Given the description of an element on the screen output the (x, y) to click on. 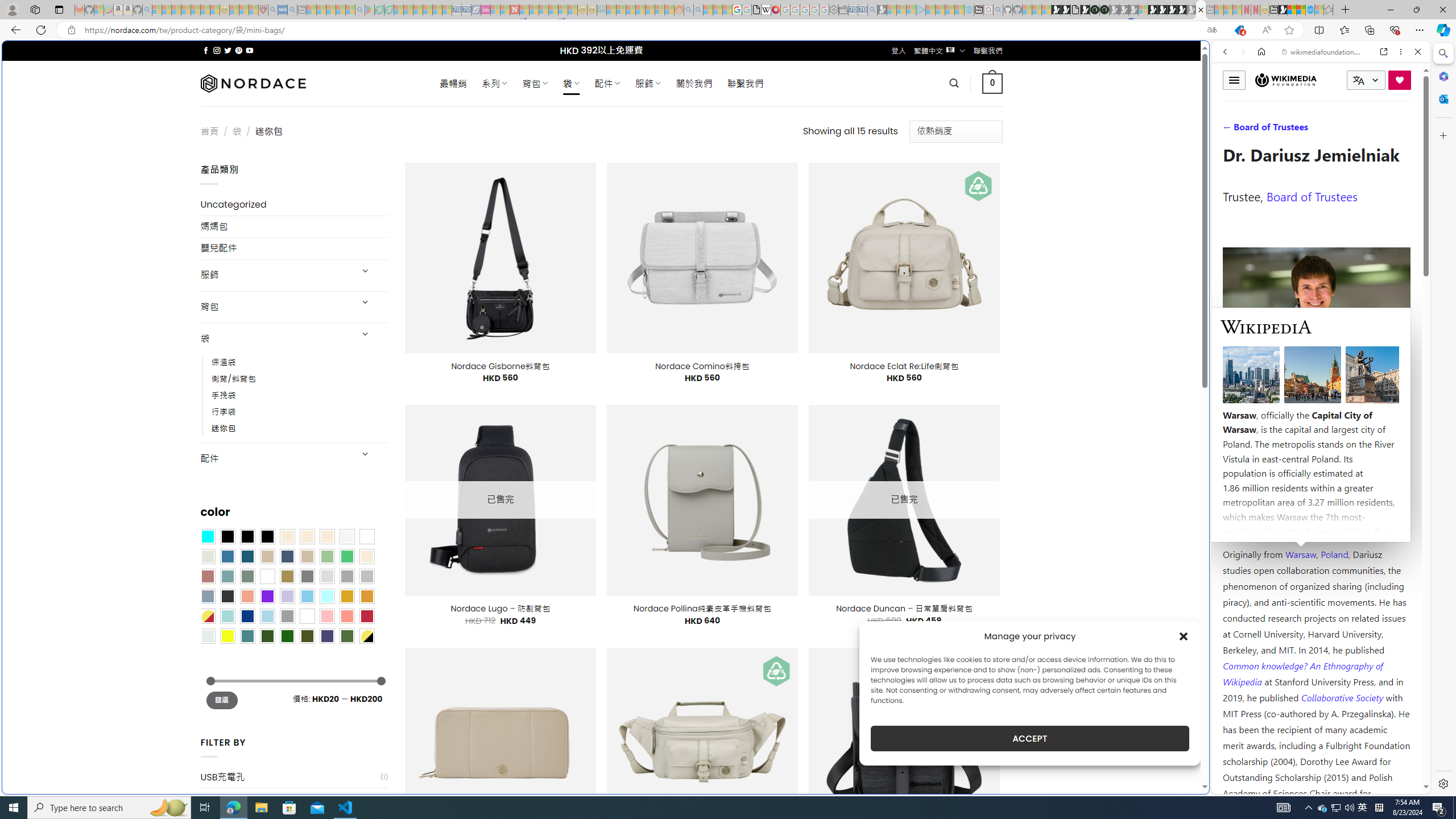
SEARCH TOOLS (1350, 130)
Local - MSN - Sleeping (253, 9)
WEB   (1230, 130)
